Given the description of an element on the screen output the (x, y) to click on. 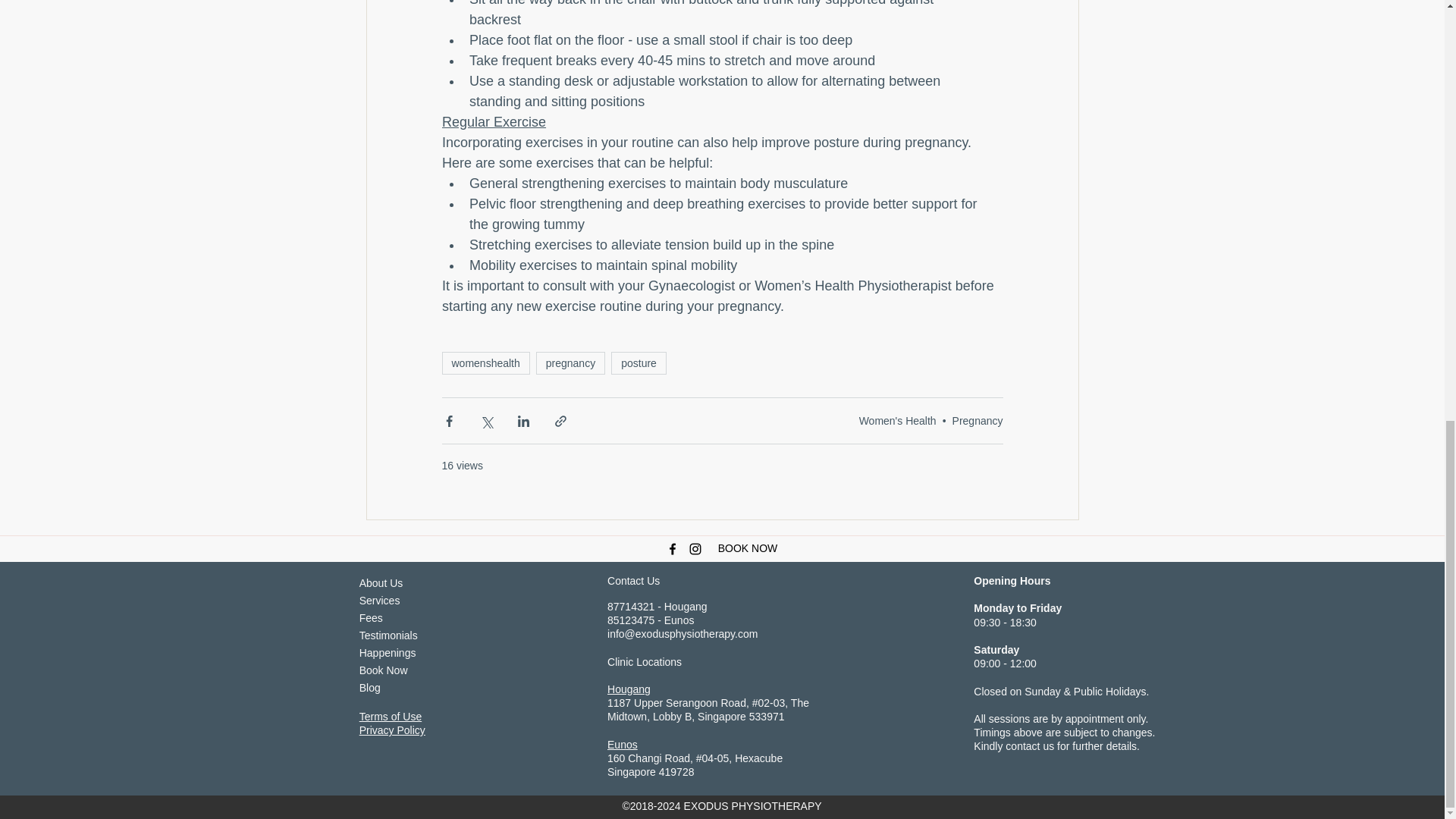
BOOK NOW (747, 548)
womenshealth (485, 363)
Pregnancy (977, 420)
posture (638, 363)
pregnancy (570, 363)
Women's Health (897, 420)
